Given the description of an element on the screen output the (x, y) to click on. 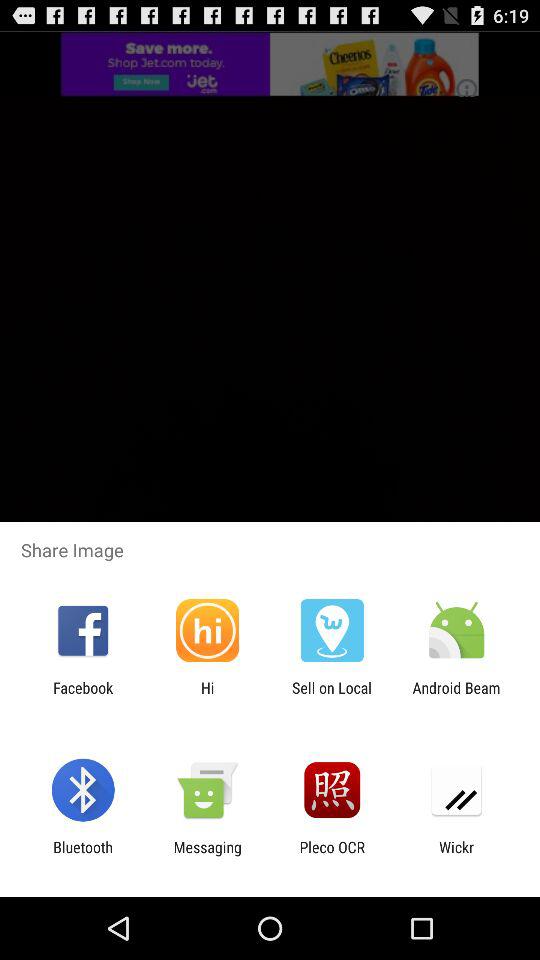
swipe to hi (207, 696)
